Given the description of an element on the screen output the (x, y) to click on. 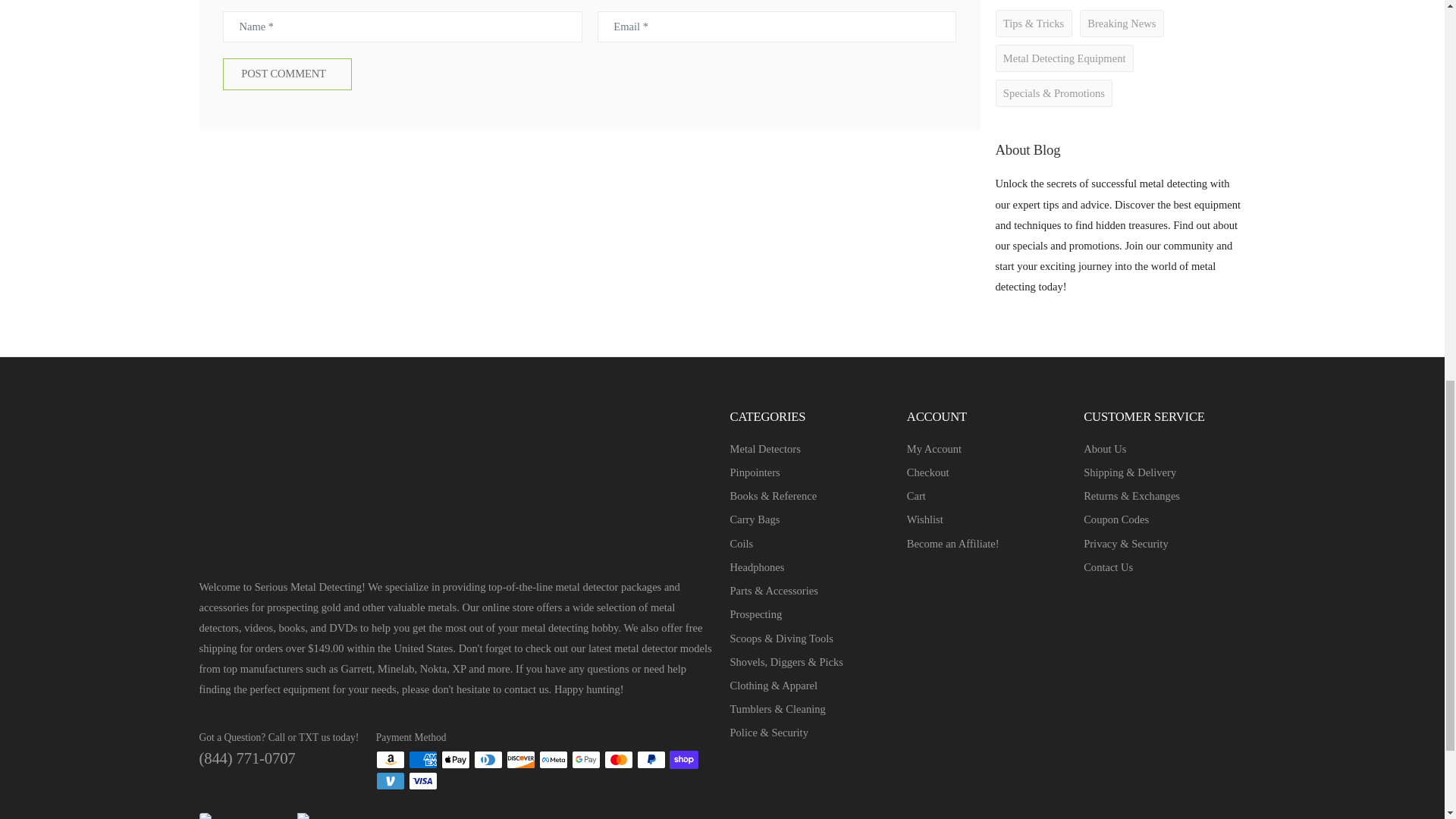
Diners Club (488, 760)
Amazon (389, 760)
Meta Pay (552, 760)
Mastercard (618, 760)
Visa (423, 781)
Venmo (389, 781)
Google Pay (585, 760)
PayPal (651, 760)
Shop Pay (683, 760)
American Express (423, 760)
Apple Pay (455, 760)
Discover (520, 760)
